Given the description of an element on the screen output the (x, y) to click on. 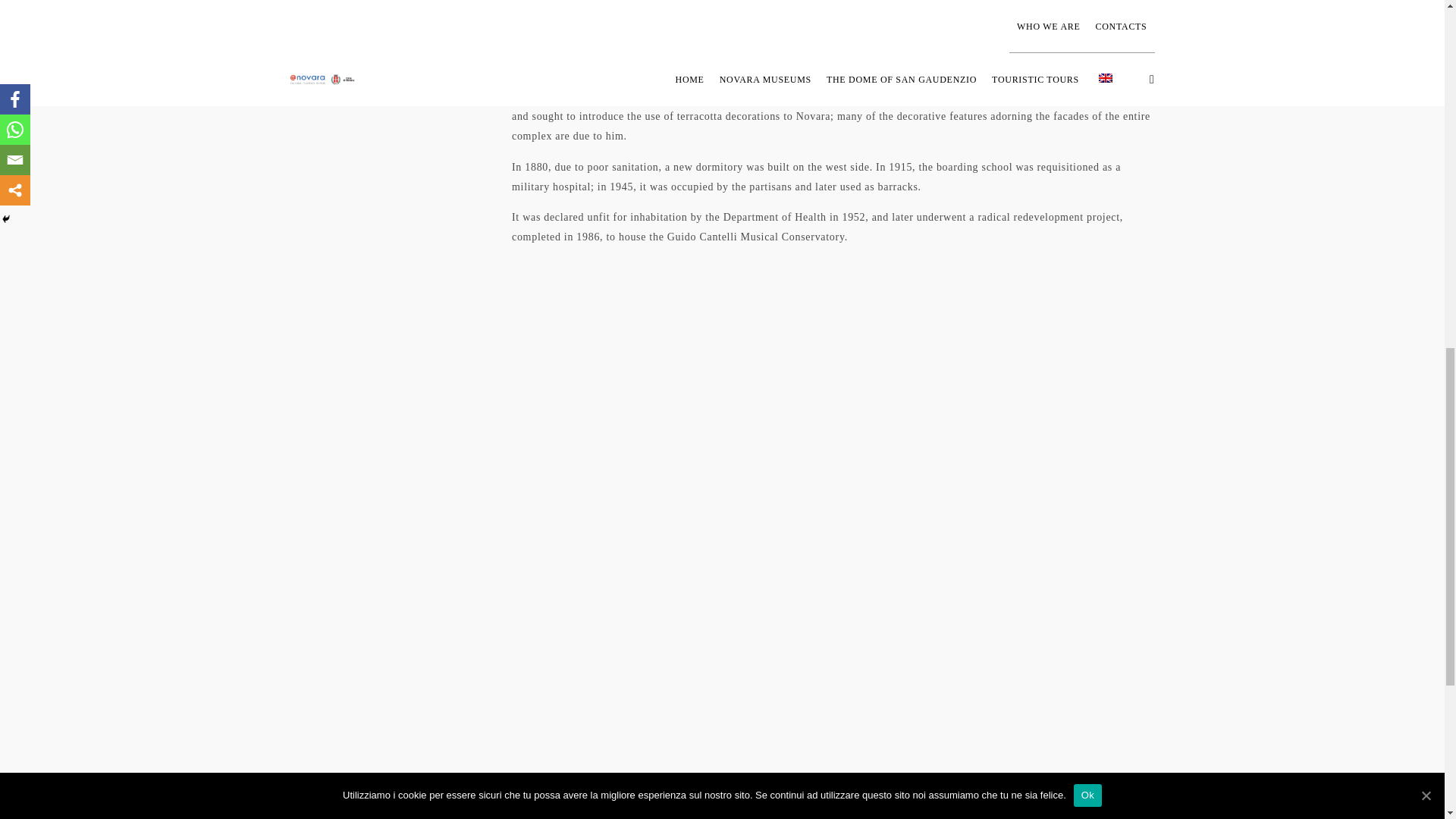
THE 19TH CENTURY AND ANTONELLI (384, 73)
